Given the description of an element on the screen output the (x, y) to click on. 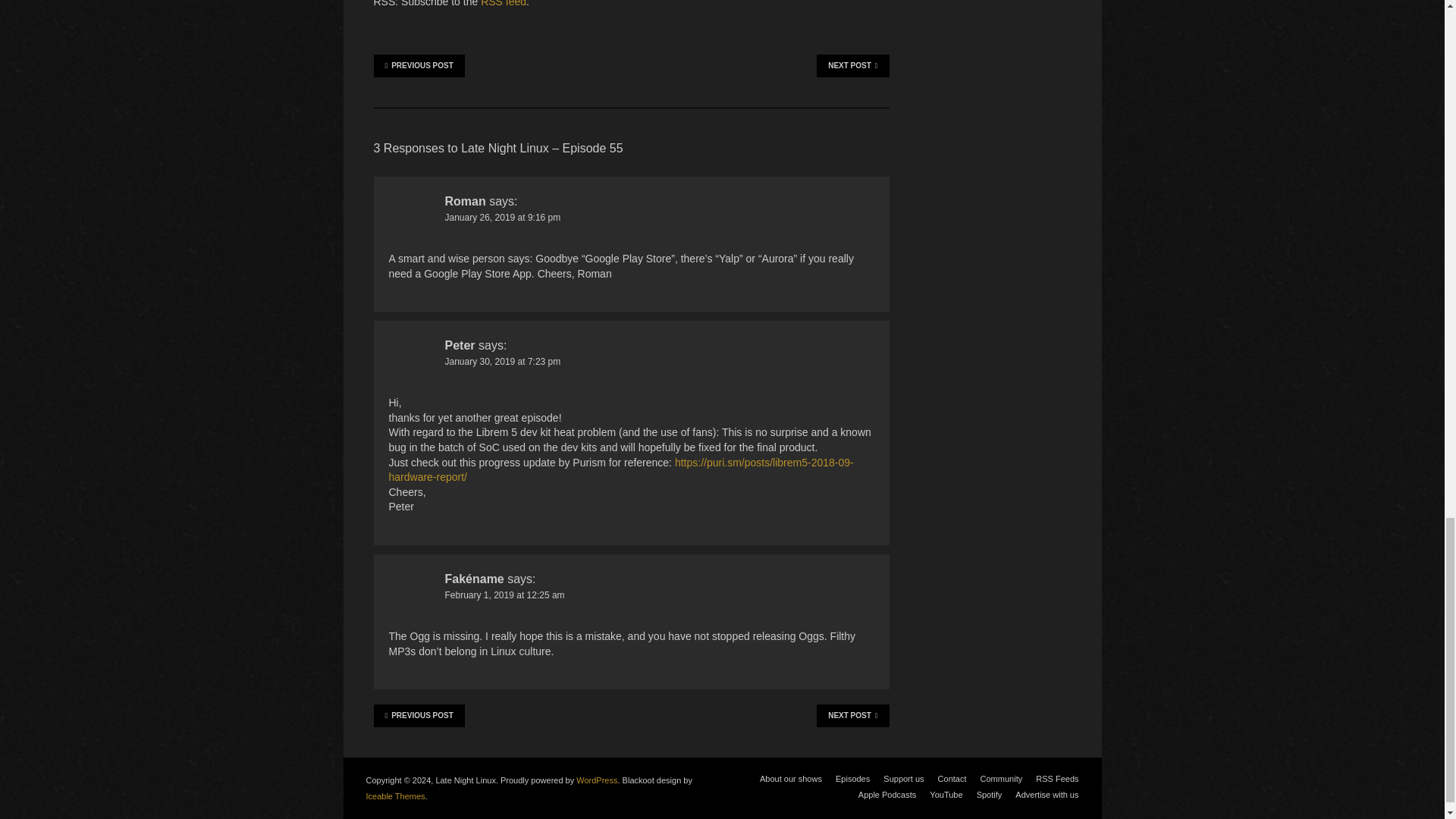
PREVIOUS POST (418, 65)
RSS feed (502, 3)
Semantic Personal Publishing Platform (596, 779)
January 26, 2019 at 9:16 pm (502, 217)
NEXT POST (852, 65)
Free and Premium WordPress Themes (395, 795)
